Given the description of an element on the screen output the (x, y) to click on. 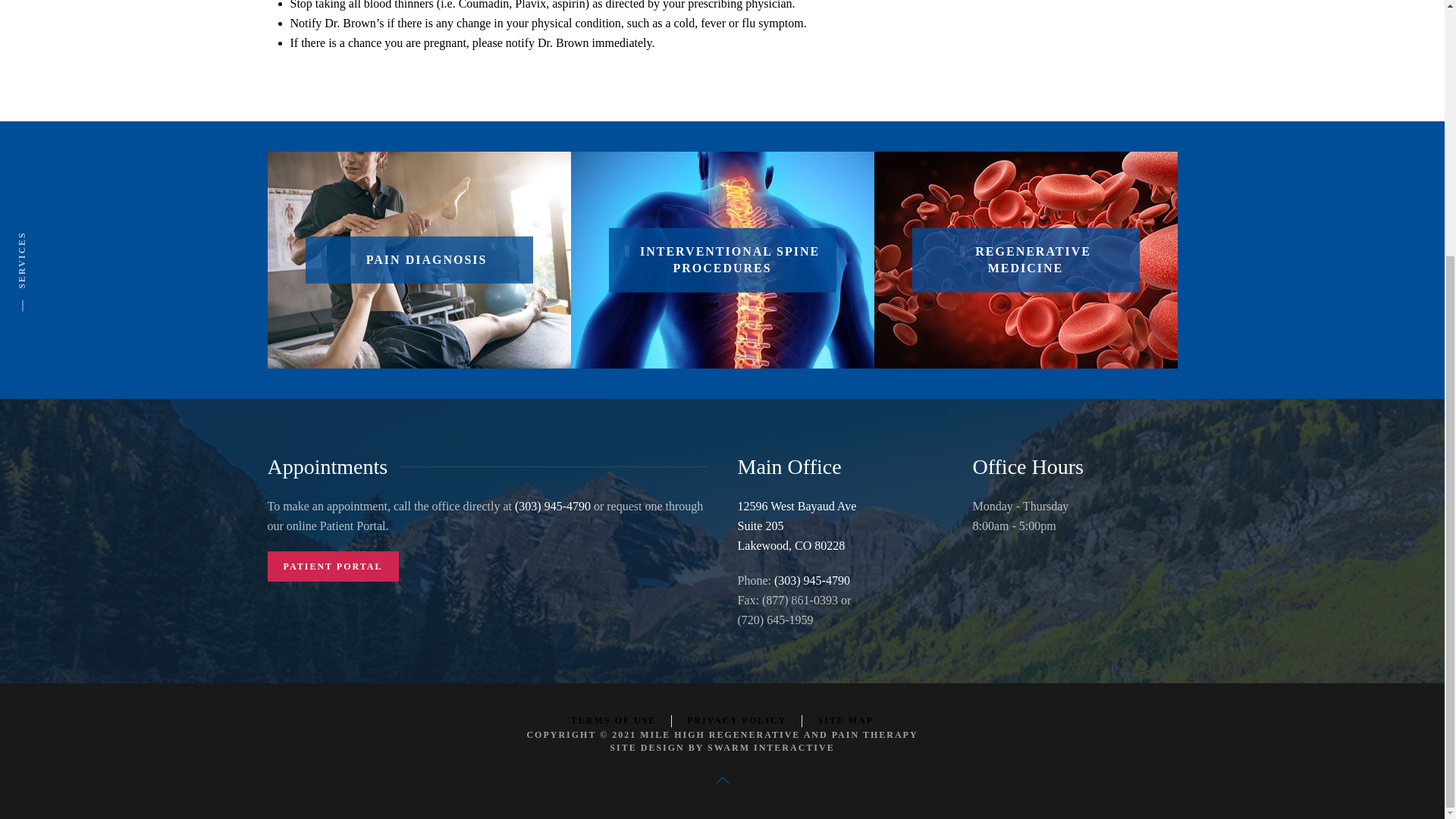
Office phone number (812, 580)
Office phone number (553, 505)
Back to Top (721, 780)
Visit Swarm Interactive, Inc. (770, 747)
Mile High Regenerative and Pain Therapy - Colorado (778, 734)
